Given the description of an element on the screen output the (x, y) to click on. 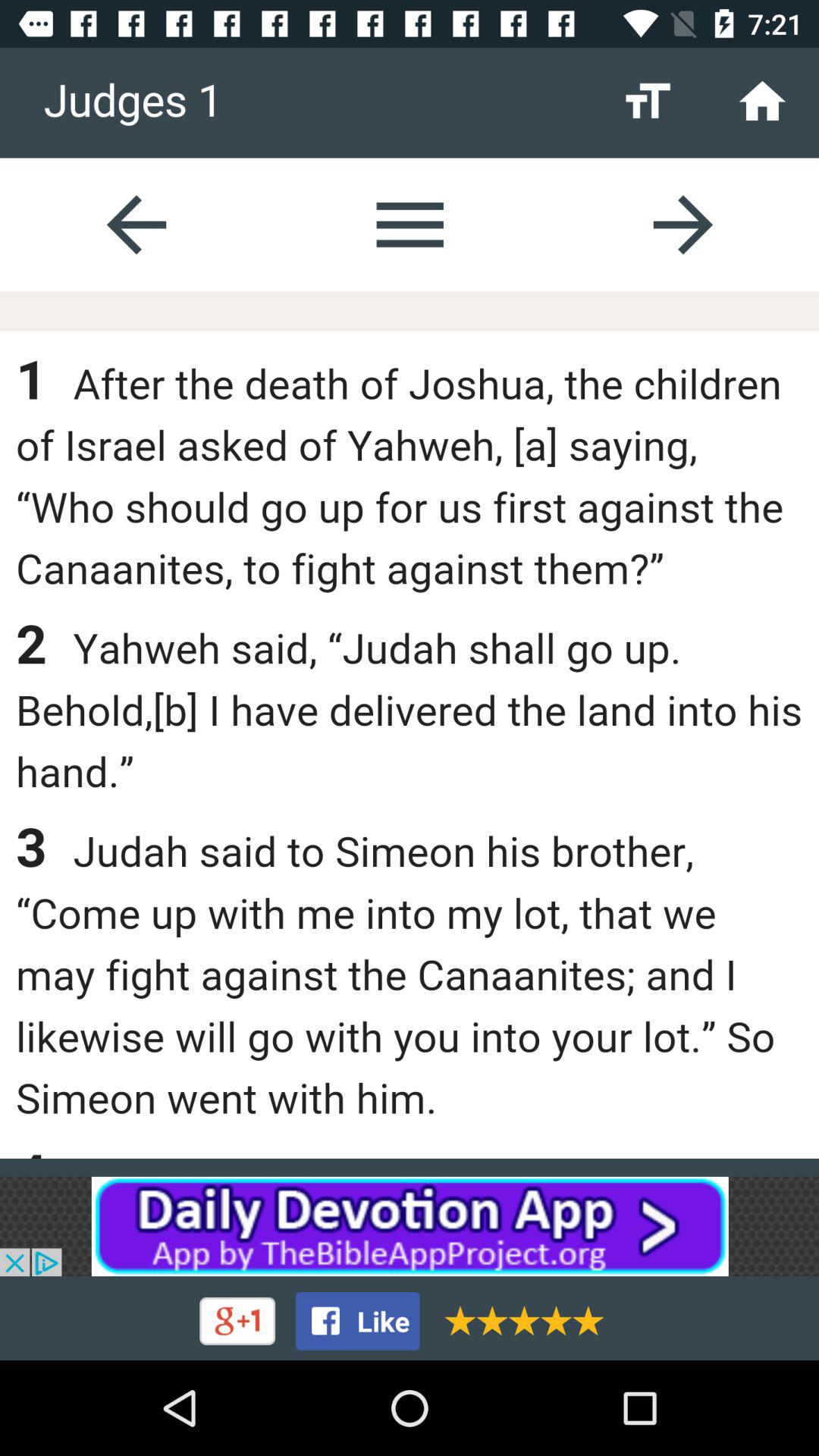
advertisements displaying (409, 1226)
